Given the description of an element on the screen output the (x, y) to click on. 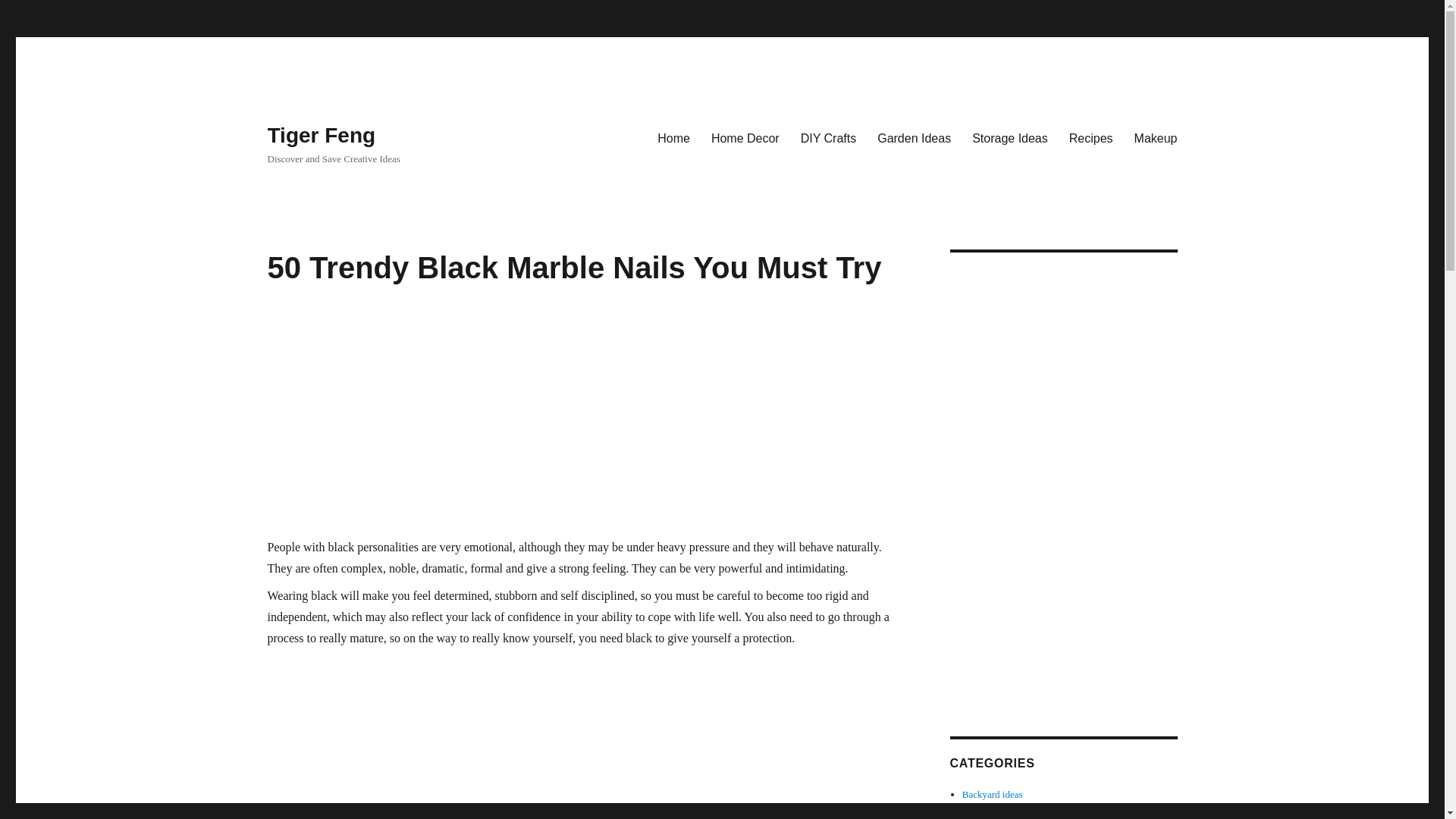
Storage Ideas (1009, 137)
Recipes (1091, 137)
DIY Crafts (828, 137)
Tiger Feng (320, 135)
Garden Ideas (913, 137)
Makeup (1156, 137)
Home (673, 137)
Home Decor (745, 137)
